Given the description of an element on the screen output the (x, y) to click on. 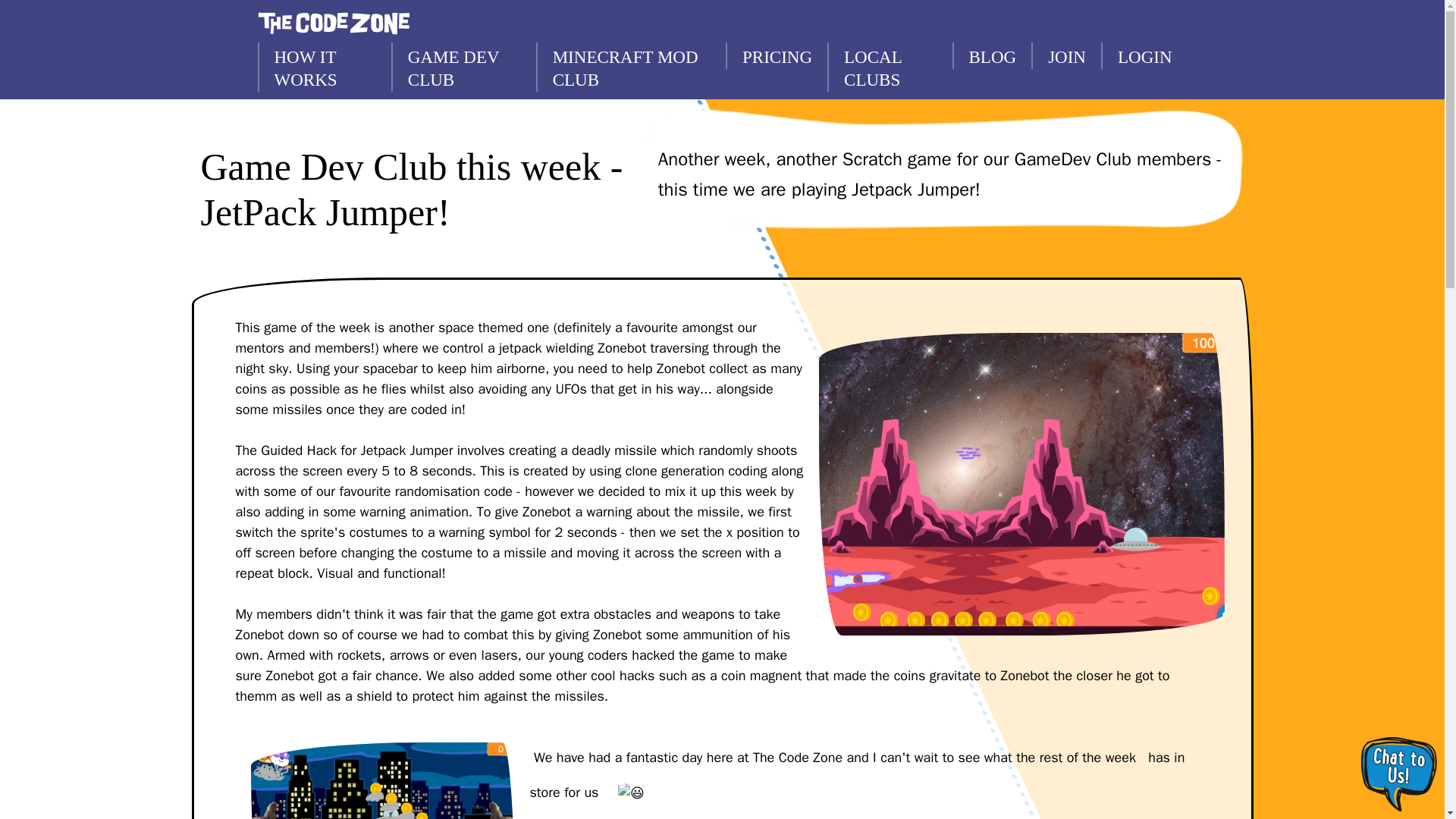
GAME DEV CLUB (463, 66)
LOCAL CLUBS (889, 66)
HOW IT WORKS (324, 66)
BLOG (992, 55)
LOGIN (1144, 55)
JOIN (1065, 55)
PRICING (776, 55)
MINECRAFT MOD CLUB (630, 66)
